Given the description of an element on the screen output the (x, y) to click on. 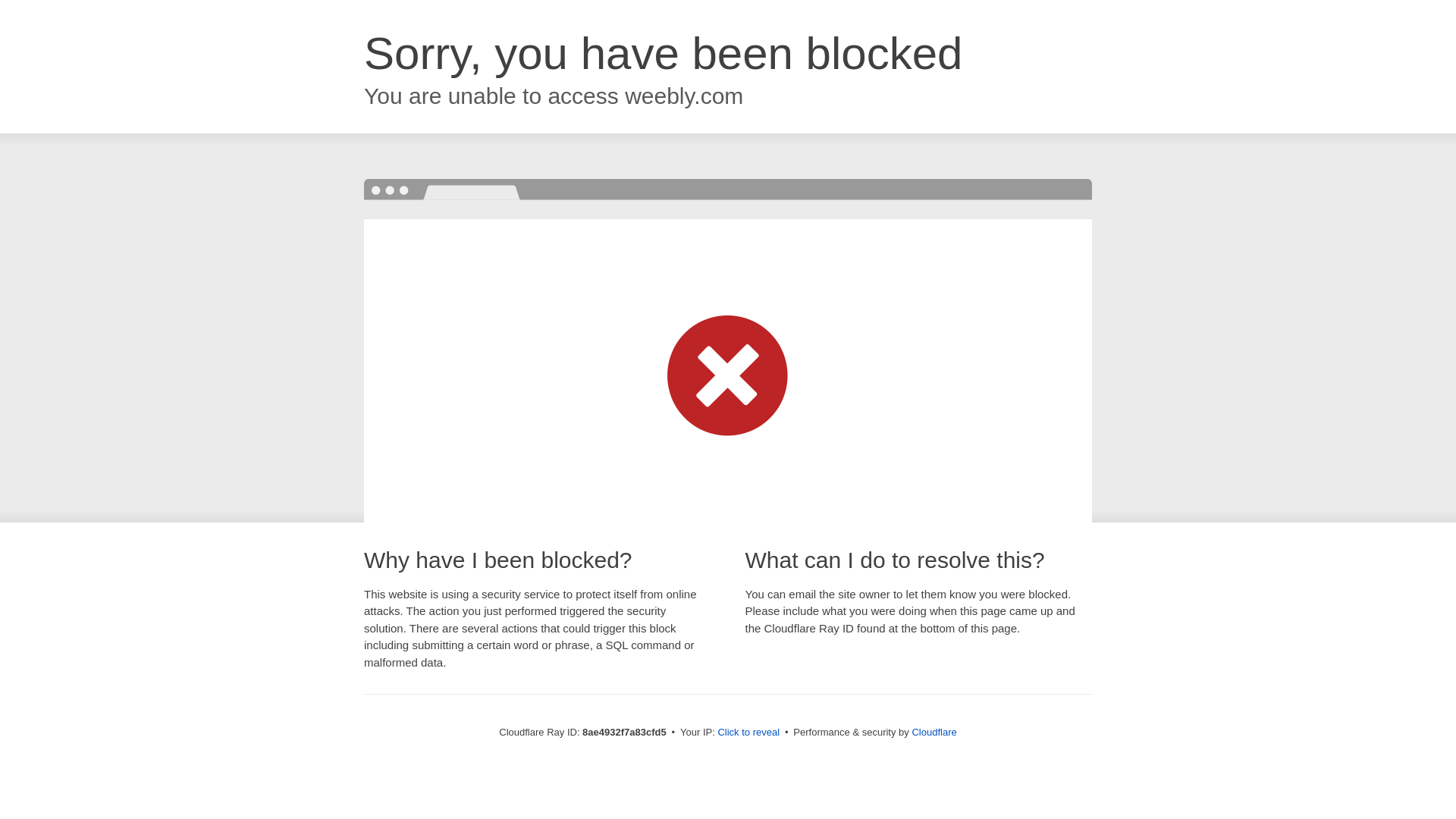
Click to reveal (747, 732)
Cloudflare (933, 731)
